Given the description of an element on the screen output the (x, y) to click on. 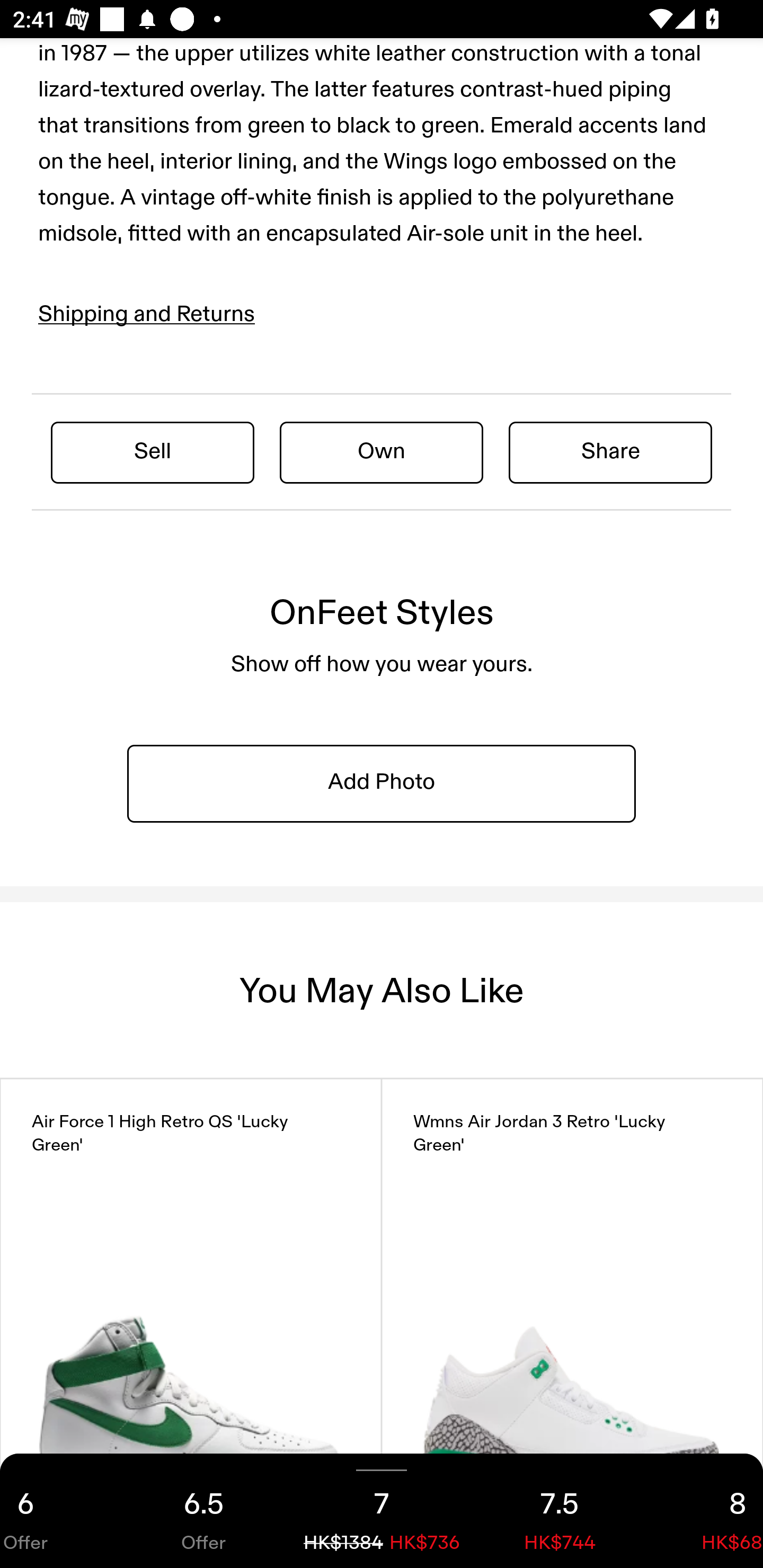
Shipping and Returns (146, 314)
Sell (152, 451)
Own (381, 451)
Share (609, 451)
Add Photo (381, 783)
Air Force 1 High Retro QS 'Lucky Green' (190, 1308)
Wmns Air Jordan 3 Retro 'Lucky Green' (572, 1308)
6 Offer (57, 1510)
6.5 Offer (203, 1510)
7 HK$1384 HK$736 (381, 1510)
7.5 HK$744 (559, 1510)
8 HK$680 (705, 1510)
